Given the description of an element on the screen output the (x, y) to click on. 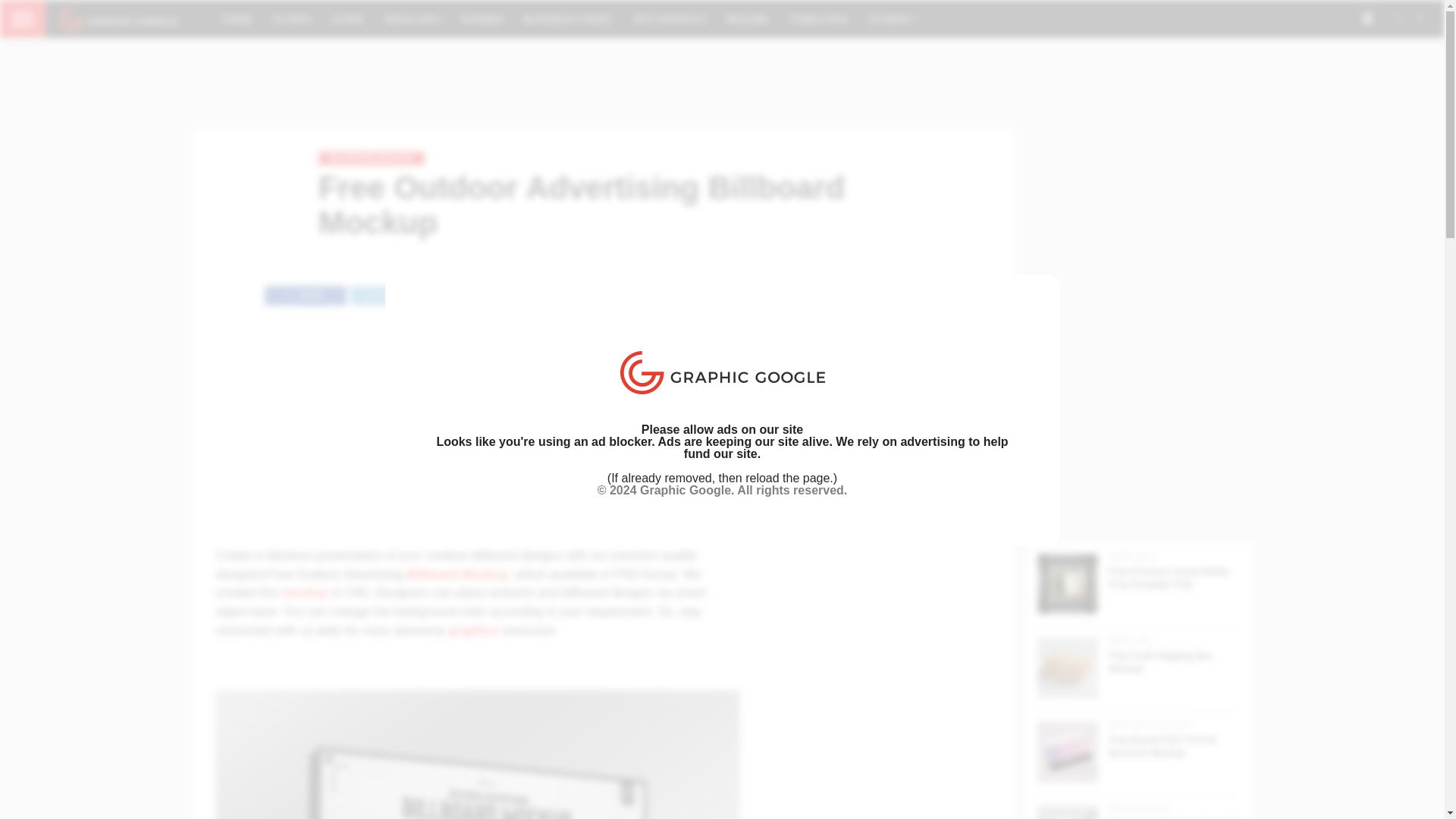
Pin This Post (476, 291)
FLYERS (292, 18)
Advertisement (722, 83)
HOME (237, 18)
Tweet This Post (390, 291)
Share on Facebook (305, 291)
Advertisement (477, 434)
